Given the description of an element on the screen output the (x, y) to click on. 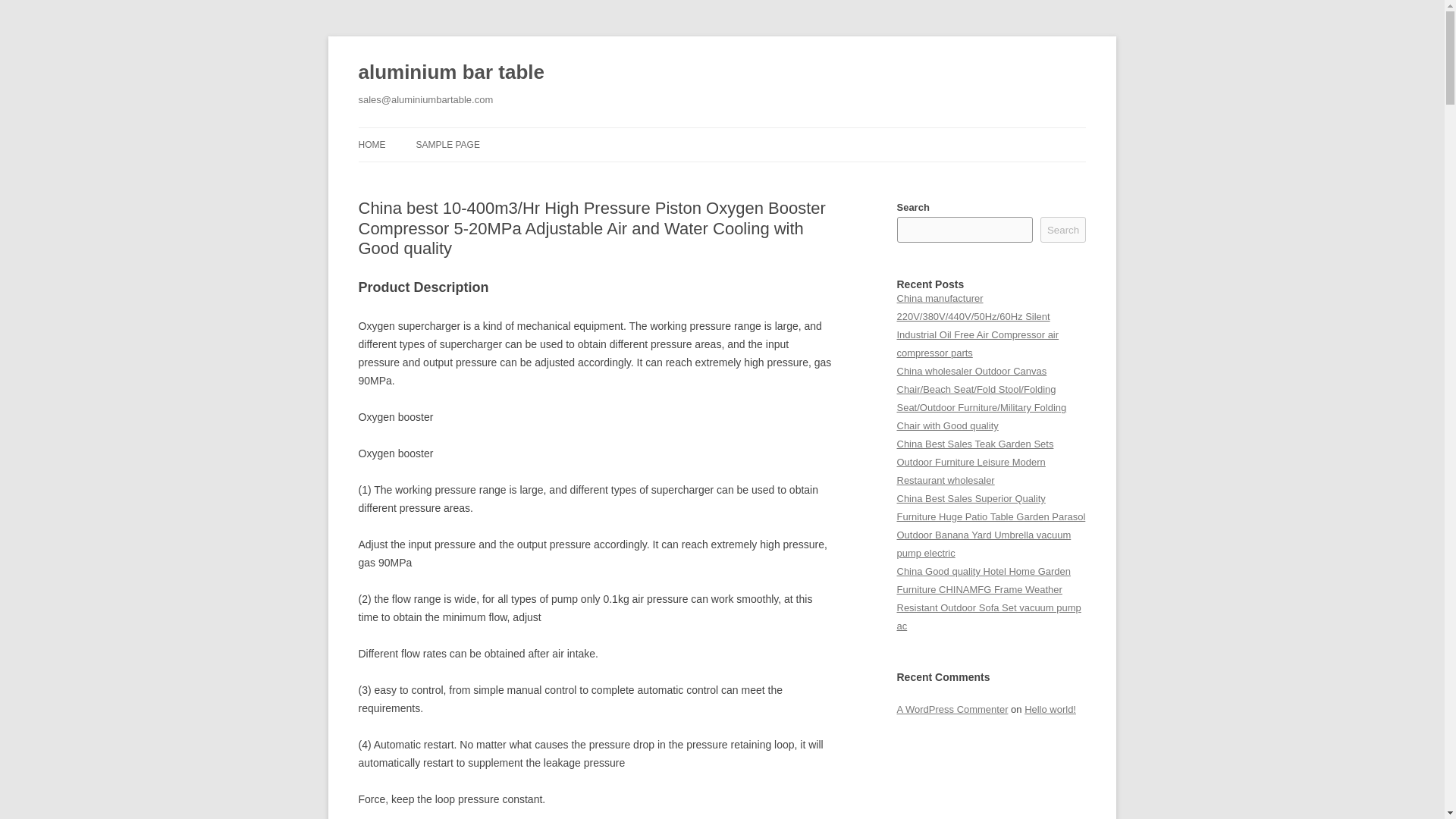
SAMPLE PAGE (446, 144)
aluminium bar table (450, 72)
Search (1063, 229)
HOME (371, 144)
